Given the description of an element on the screen output the (x, y) to click on. 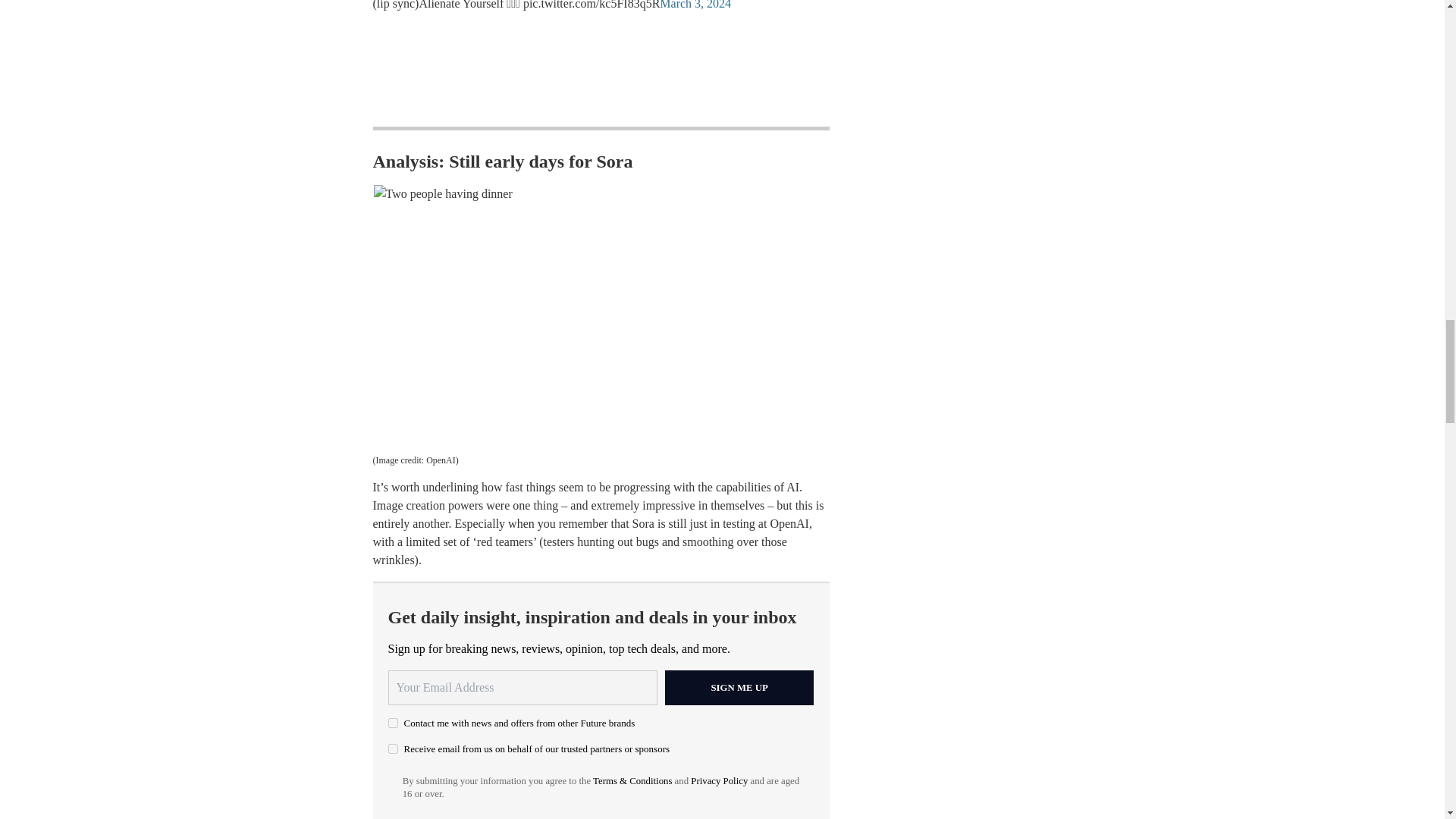
on (392, 723)
on (392, 748)
Sign me up (739, 687)
